Given the description of an element on the screen output the (x, y) to click on. 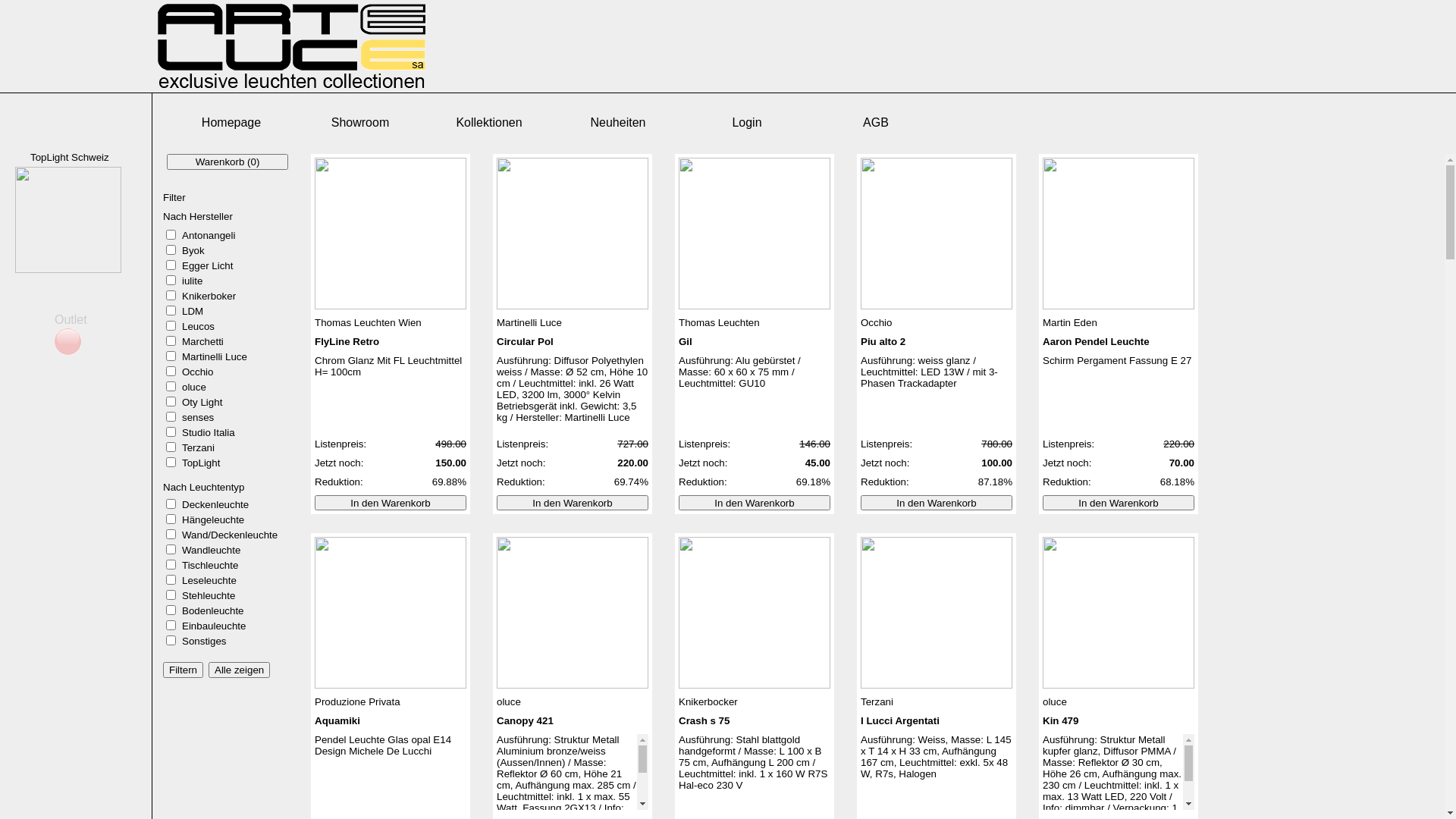
Kollektionen Element type: text (488, 122)
In den Warenkorb Element type: text (572, 502)
AGB Element type: text (875, 122)
In den Warenkorb Element type: text (1118, 502)
In den Warenkorb Element type: text (936, 502)
Homepage Element type: text (230, 122)
In den Warenkorb Element type: text (390, 502)
Alle zeigen Element type: text (238, 669)
Neuheiten Element type: text (617, 122)
In den Warenkorb Element type: text (754, 502)
Showroom Element type: text (359, 122)
Login Element type: text (746, 122)
TopLight Schweiz Element type: text (69, 157)
Warenkorb (0) Element type: text (227, 161)
Filtern Element type: text (183, 669)
